Given the description of an element on the screen output the (x, y) to click on. 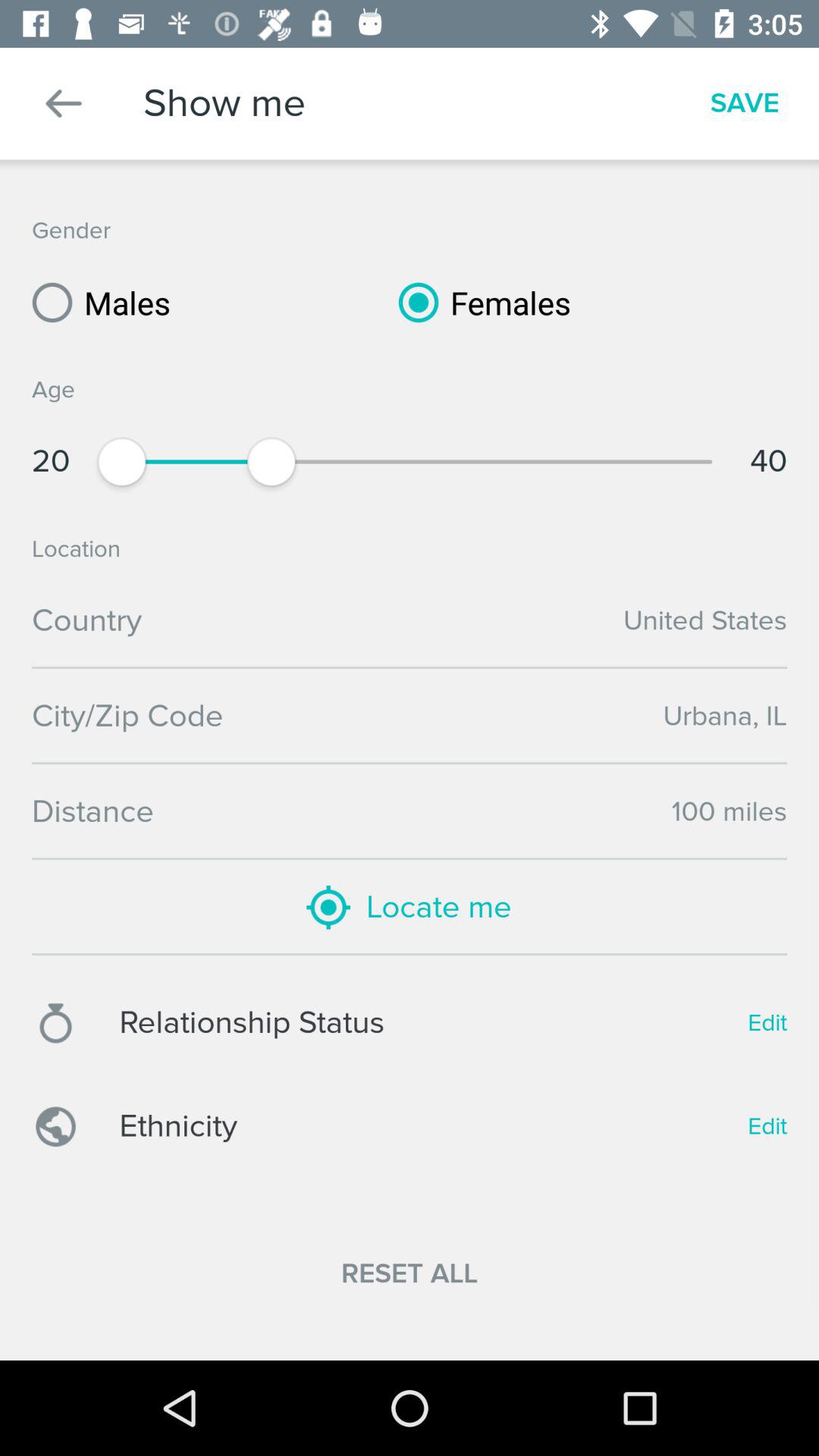
jump to males icon (95, 302)
